Given the description of an element on the screen output the (x, y) to click on. 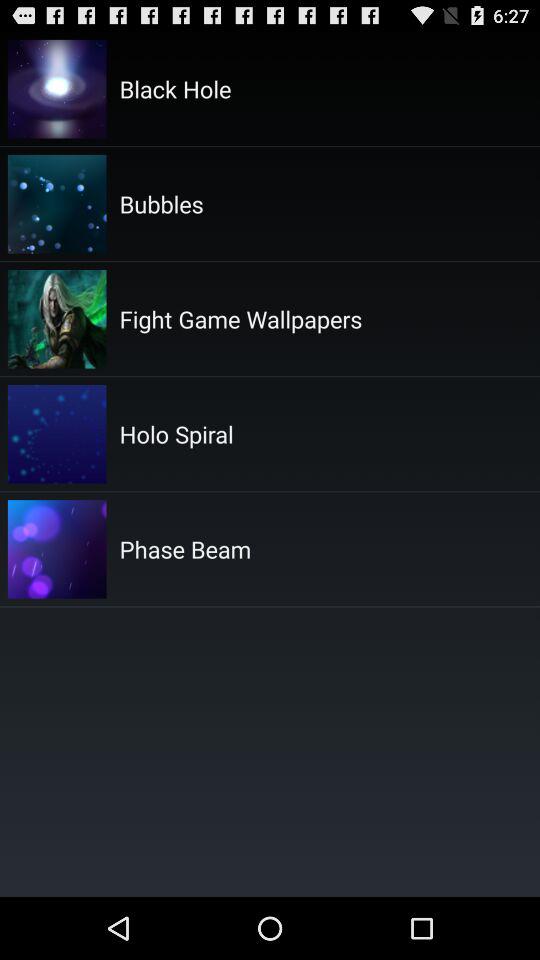
turn off the item at the center (185, 549)
